Given the description of an element on the screen output the (x, y) to click on. 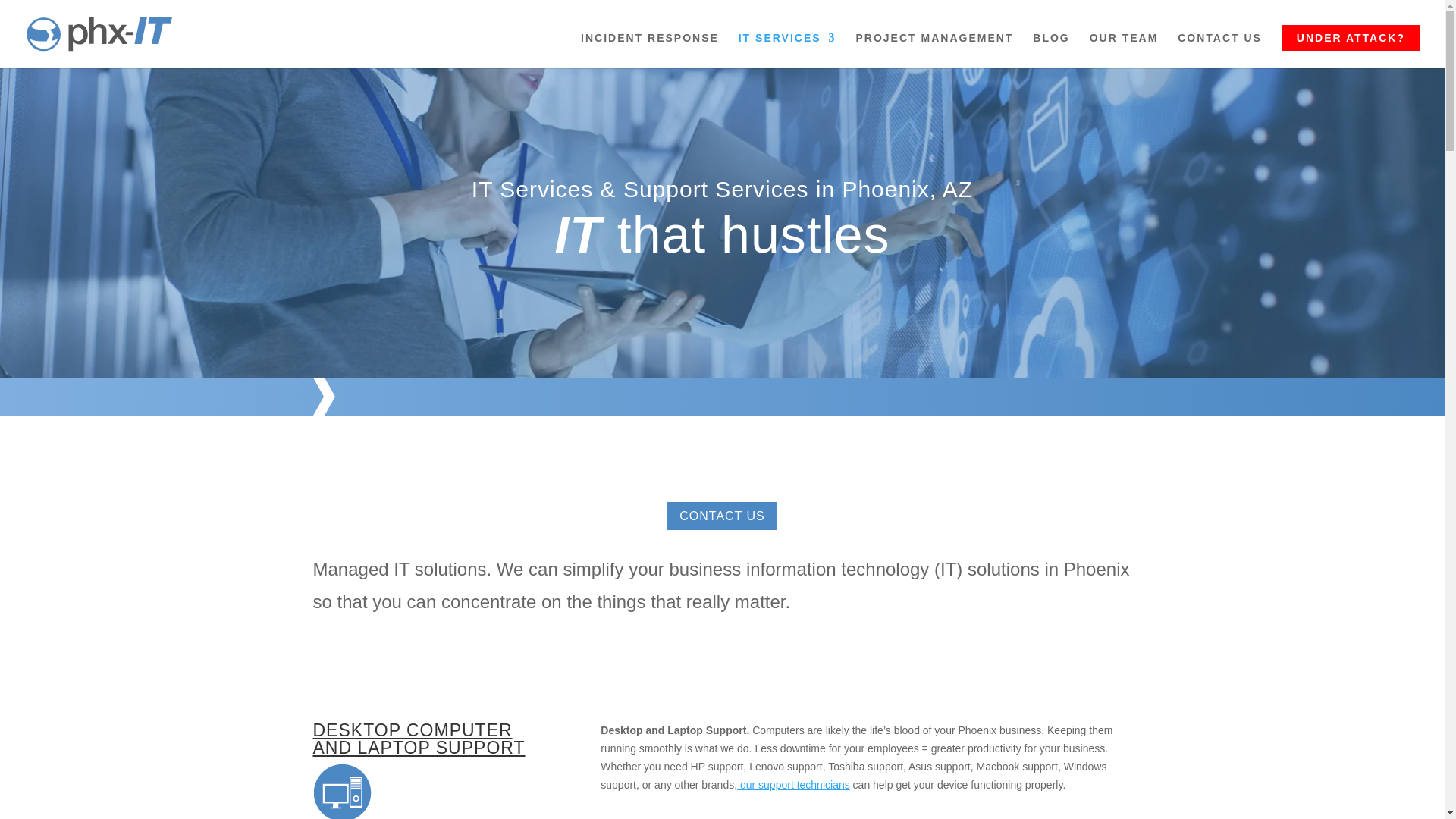
INCIDENT RESPONSE (649, 49)
PROJECT MANAGEMENT (934, 49)
our support technicians (793, 784)
CONTACT US (1219, 49)
DESKTOP COMPUTER AND LAPTOP SUPPORT (418, 738)
UNDER ATTACK? (1351, 37)
BLOG (1050, 49)
IT SERVICES (786, 49)
CONTACT US (721, 515)
OUR TEAM (1123, 49)
